Given the description of an element on the screen output the (x, y) to click on. 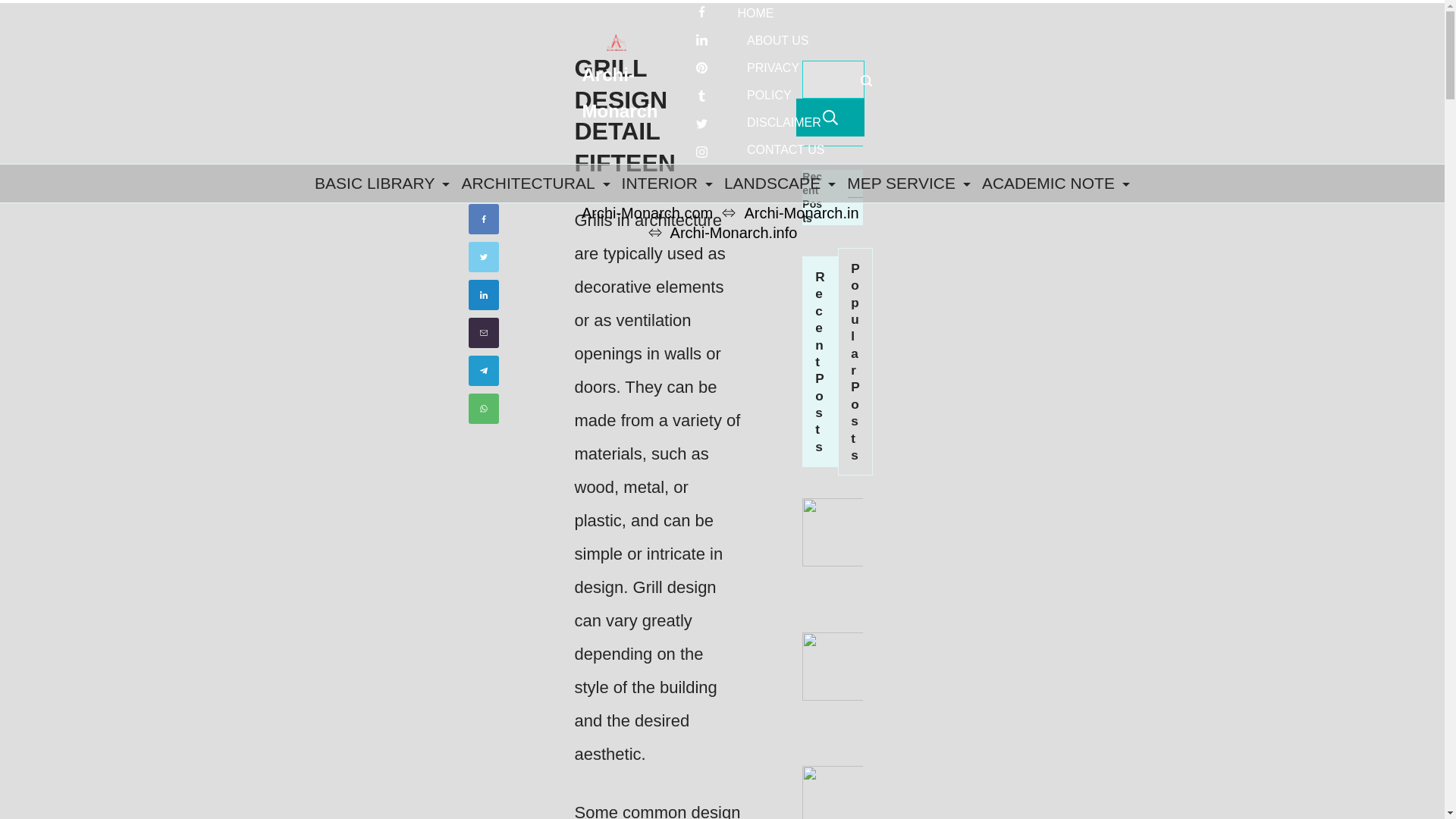
BASIC LIBRARY (384, 182)
PRIVACY POLICY (782, 81)
LANDSCAPE (779, 182)
INTERIOR (666, 182)
Archi-Monarch (620, 92)
ARCHITECTURAL (535, 182)
HOME (759, 13)
ABOUT US (777, 40)
CONTACT US (780, 149)
DISCLAIMER (782, 122)
